Given the description of an element on the screen output the (x, y) to click on. 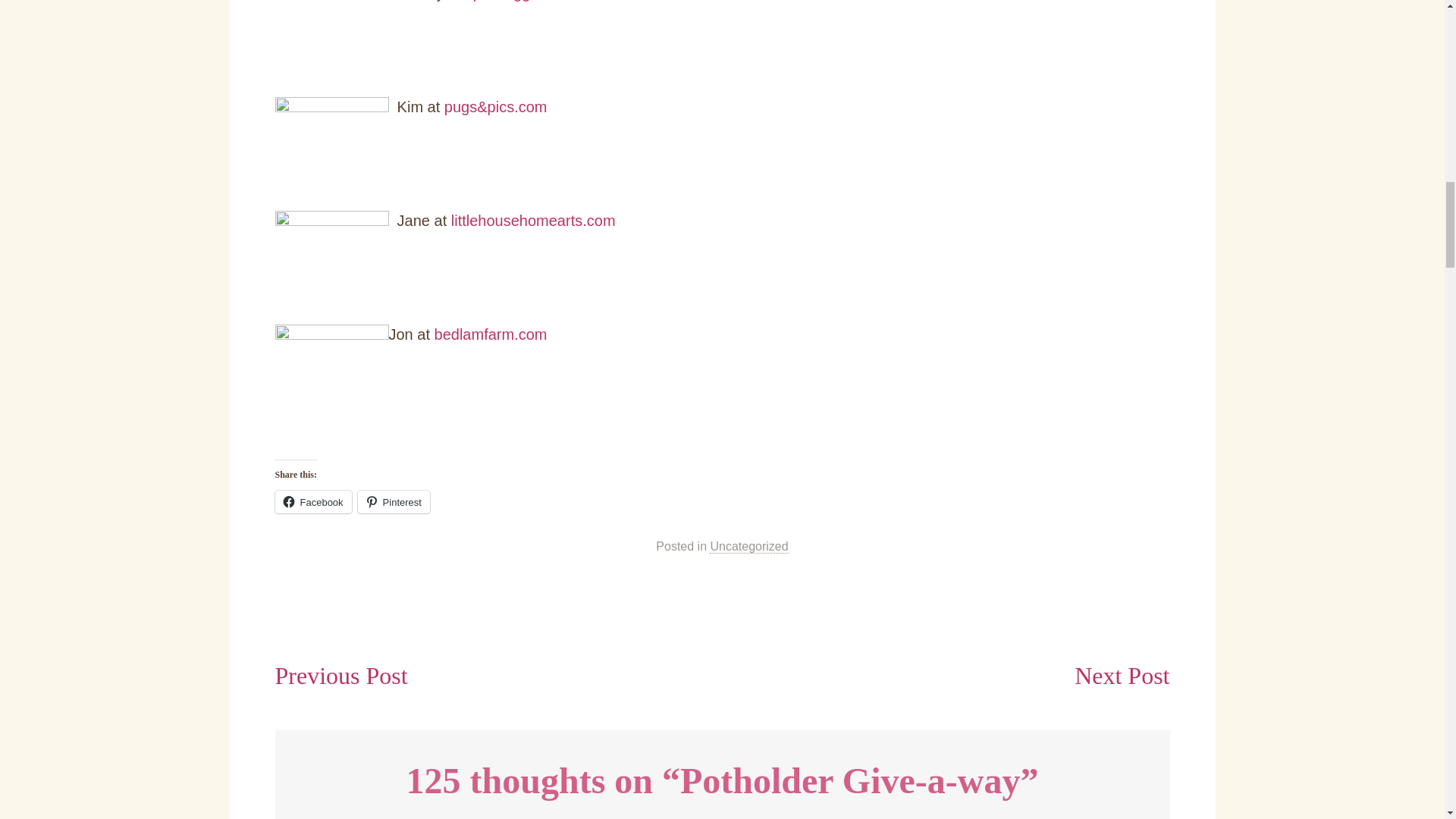
Facebook (312, 501)
littlehousehomearts.com (533, 220)
Click to share on Facebook (312, 501)
jon (331, 379)
Uncategorized (748, 546)
nancy (331, 47)
Previous Post (341, 675)
kim (331, 152)
Click to share on Pinterest (393, 501)
Next Post (1121, 675)
bedlamfarm.com (490, 334)
Pinterest (393, 501)
jane (331, 265)
